Given the description of an element on the screen output the (x, y) to click on. 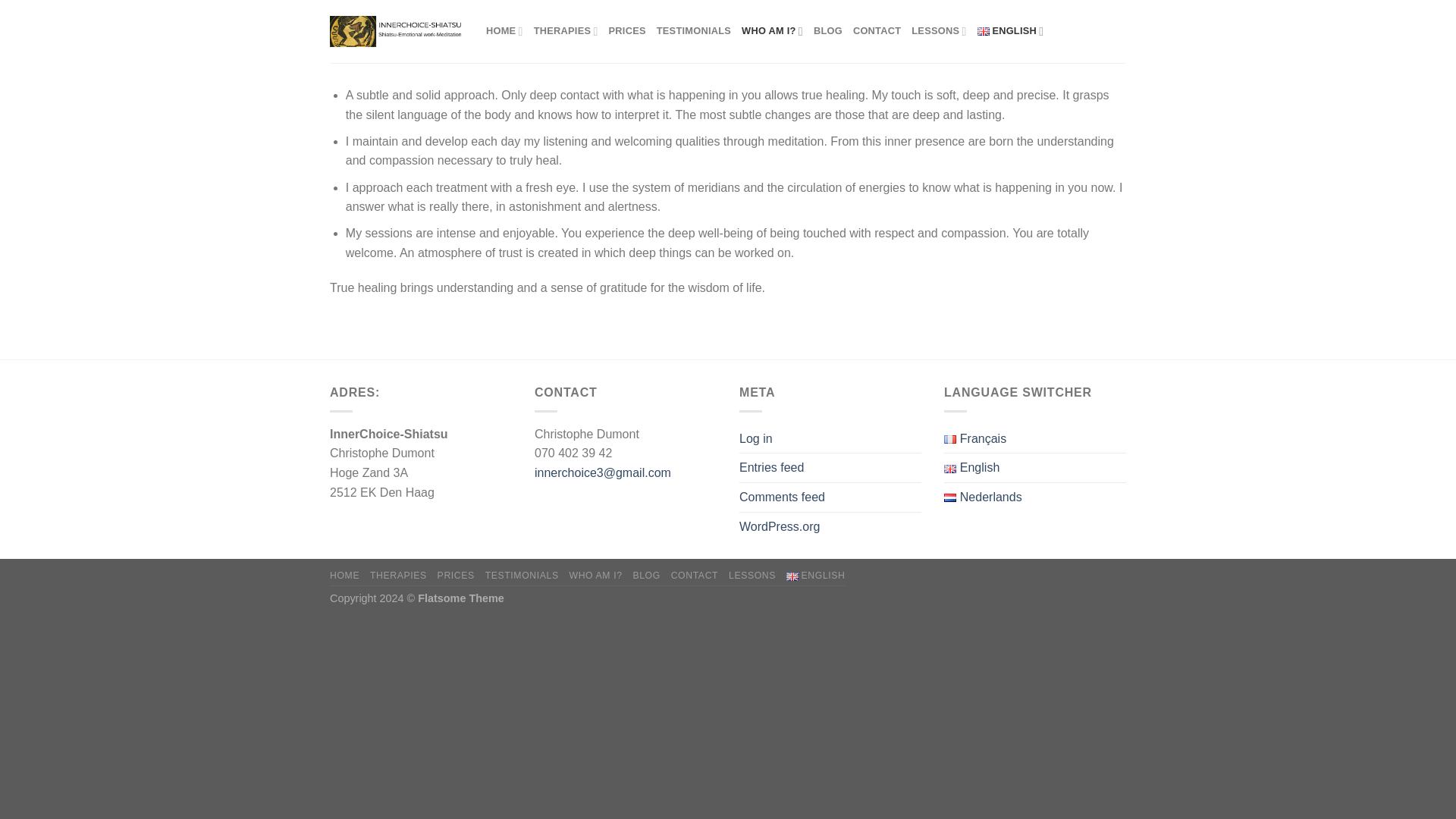
Entries feed (771, 467)
Log in (756, 439)
English (970, 467)
TESTIMONIALS (693, 30)
WHO AM I? (596, 575)
PRICES (627, 30)
TESTIMONIALS (521, 575)
ENGLISH (1009, 30)
THERAPIES (397, 575)
HOME (504, 30)
WHO AM I? (772, 30)
CONTACT (877, 30)
PRICES (456, 575)
THERAPIES (566, 30)
